Given the description of an element on the screen output the (x, y) to click on. 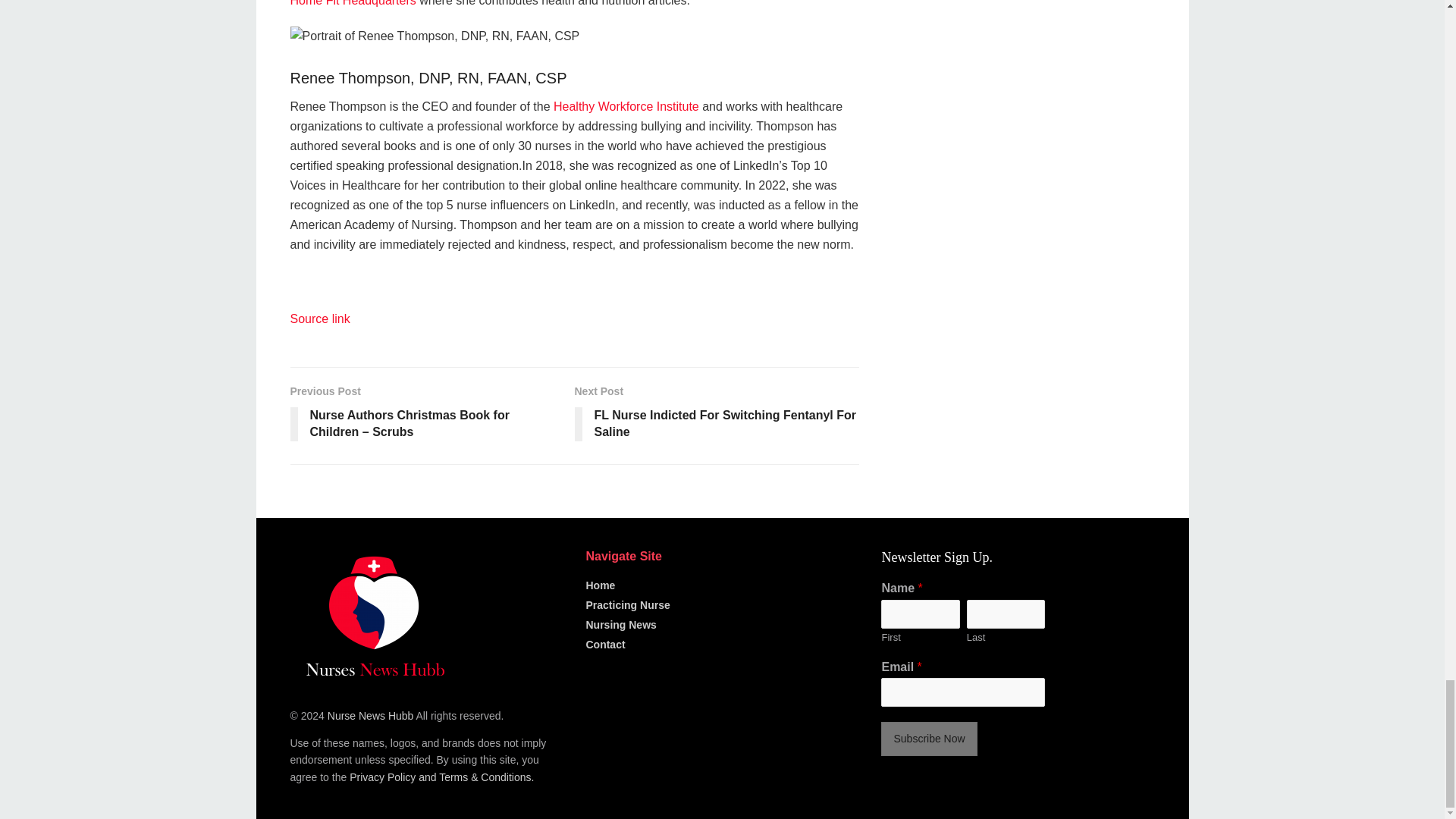
Home Fit Headquarters (351, 3)
Nurses white (373, 615)
Healthy Workforce Institute (625, 106)
Source link (319, 318)
